Given the description of an element on the screen output the (x, y) to click on. 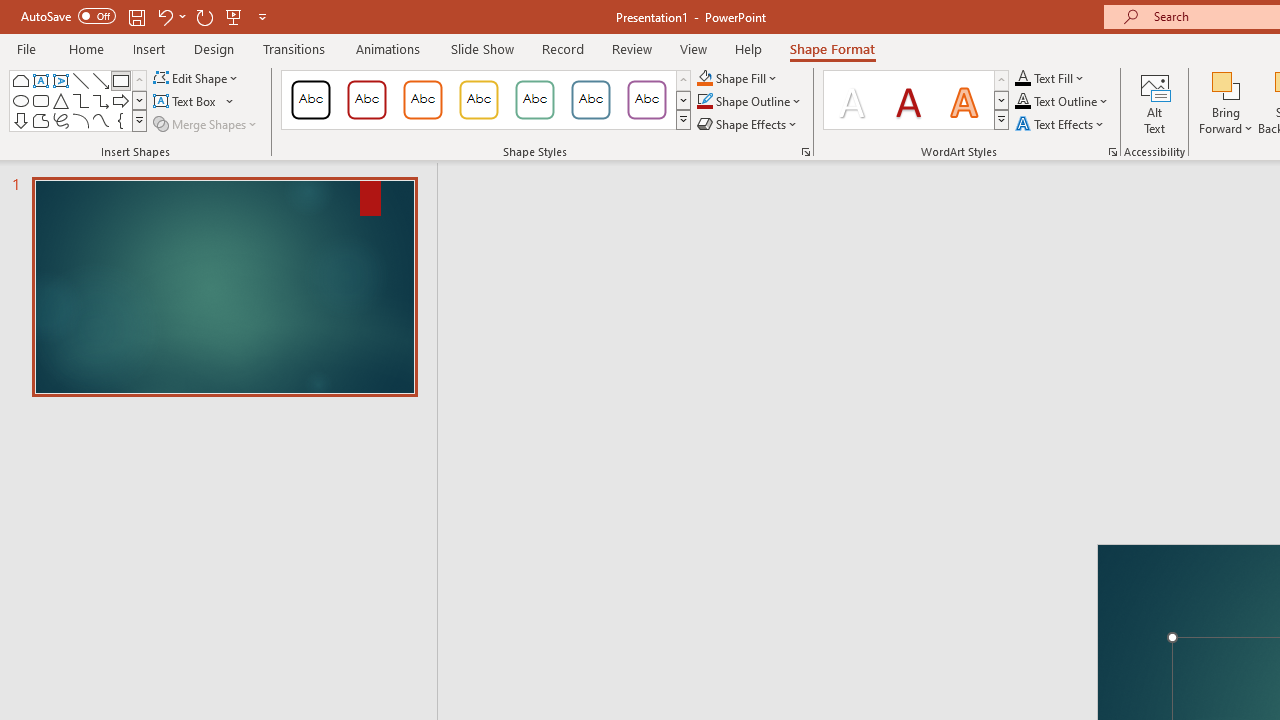
Text Effects (1061, 124)
Text Outline (1062, 101)
Format Text Effects... (1112, 151)
AutomationID: TextStylesGallery (916, 99)
